Given the description of an element on the screen output the (x, y) to click on. 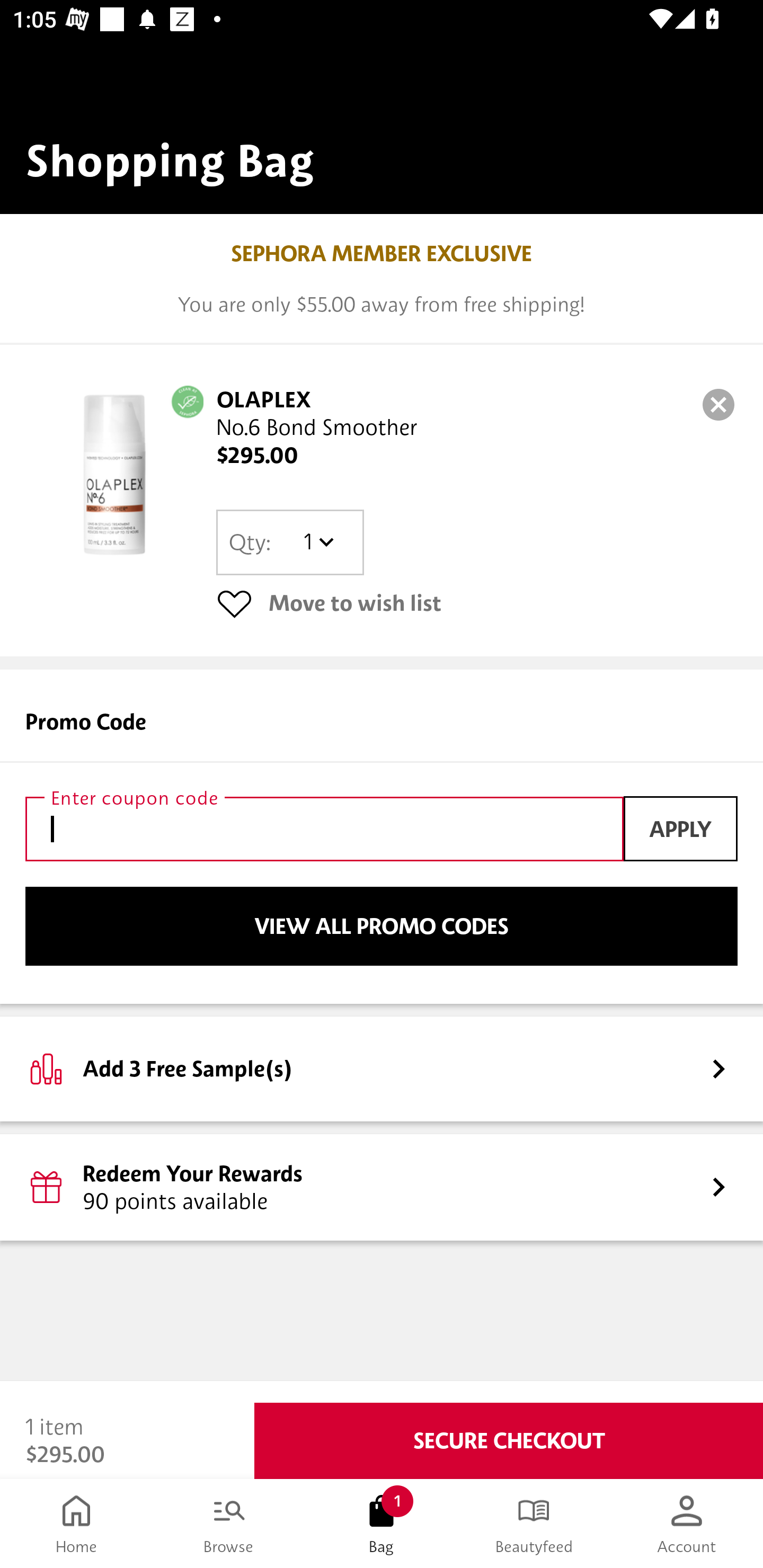
1 (317, 542)
Move to wish list (476, 602)
APPLY (680, 828)
Enter coupon code (324, 828)
VIEW ALL PROMO CODES (381, 926)
Add 3 Free Sample(s) (381, 1068)
Redeem Your Rewards 90 points available (381, 1186)
SECURE CHECKOUT (508, 1440)
Home (76, 1523)
Browse (228, 1523)
Beautyfeed (533, 1523)
Account (686, 1523)
